Given the description of an element on the screen output the (x, y) to click on. 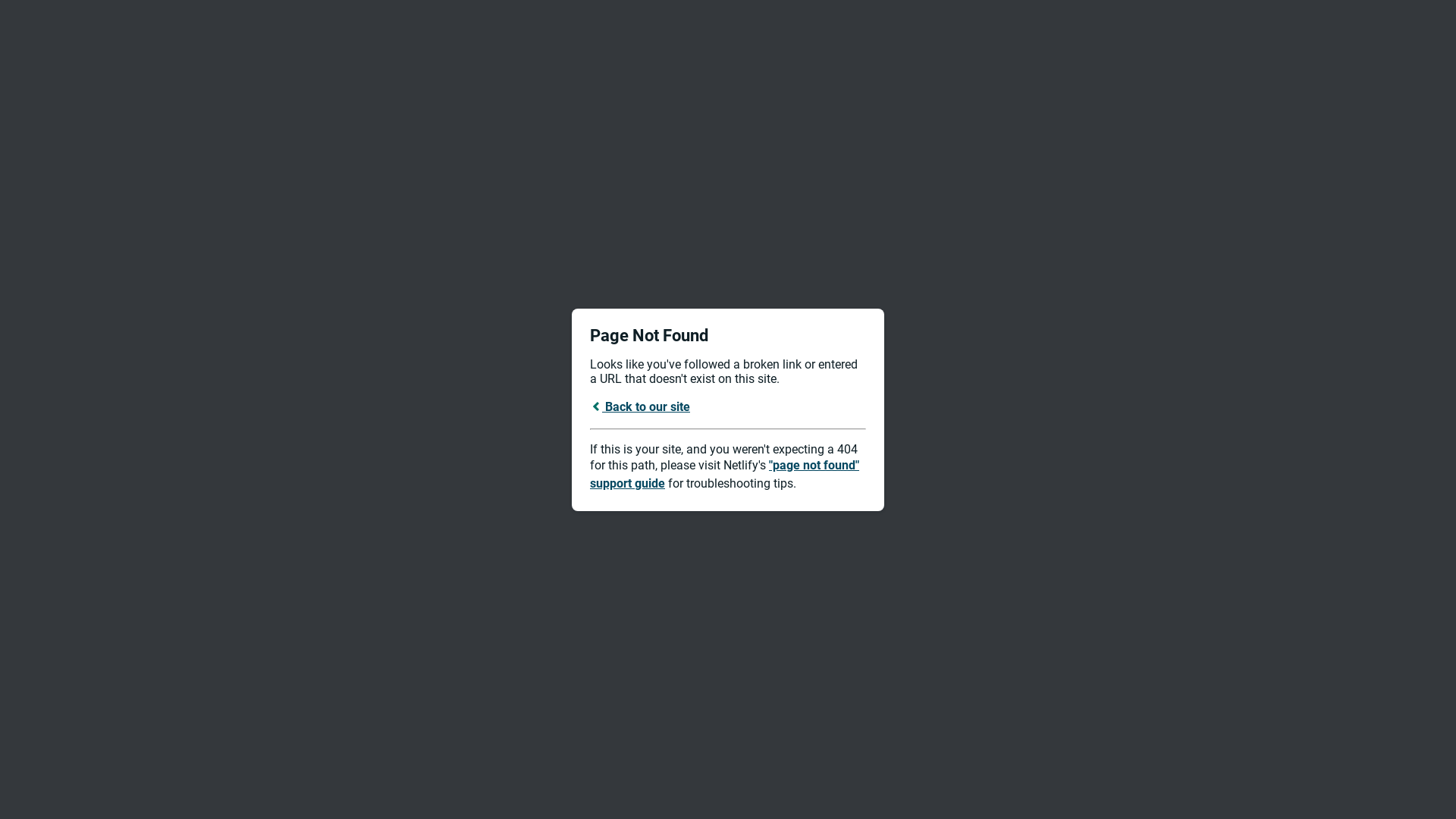
"page not found" support guide Element type: text (724, 474)
Back to our site Element type: text (639, 405)
